Given the description of an element on the screen output the (x, y) to click on. 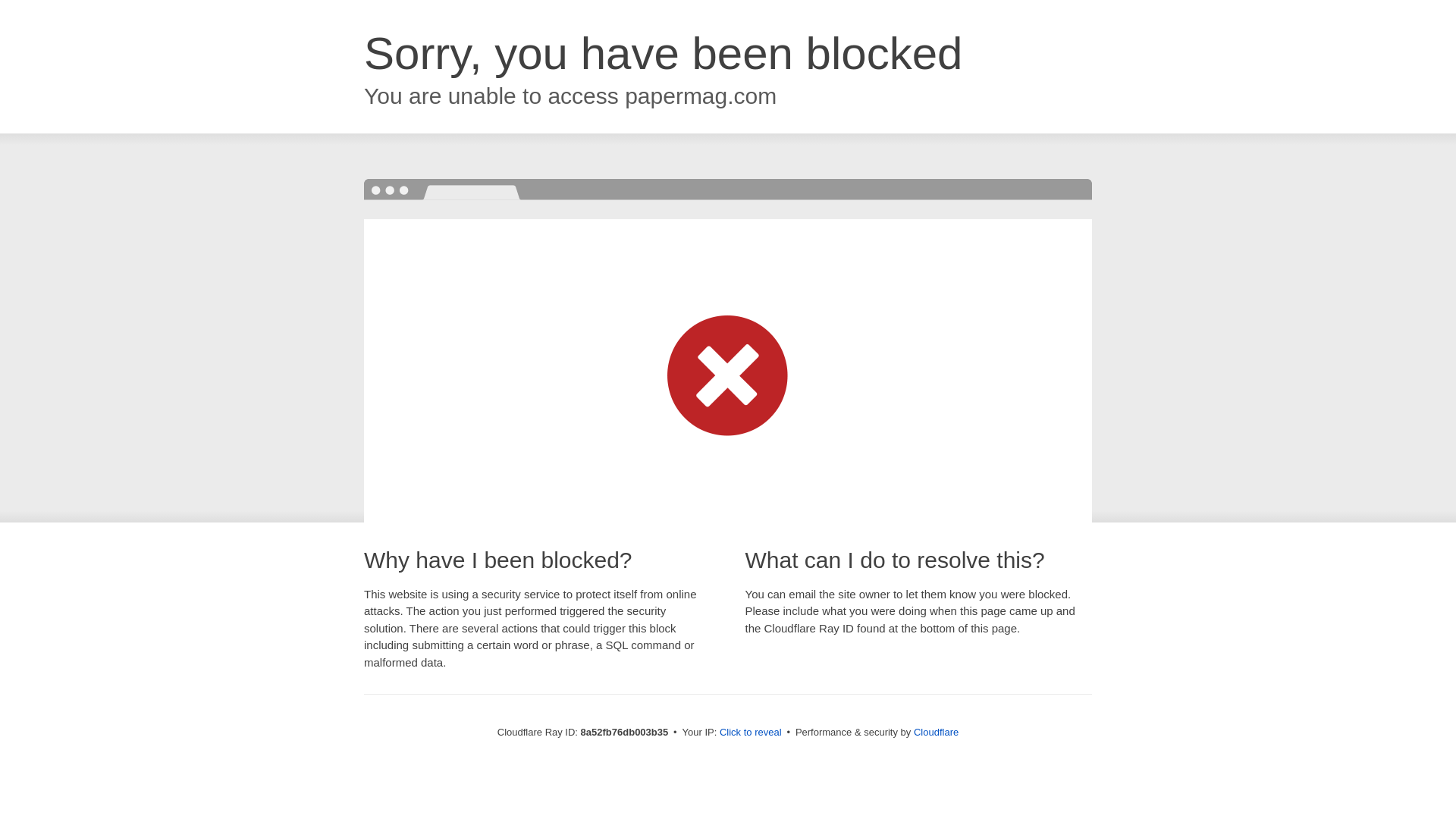
Click to reveal (750, 732)
Cloudflare (936, 731)
